Given the description of an element on the screen output the (x, y) to click on. 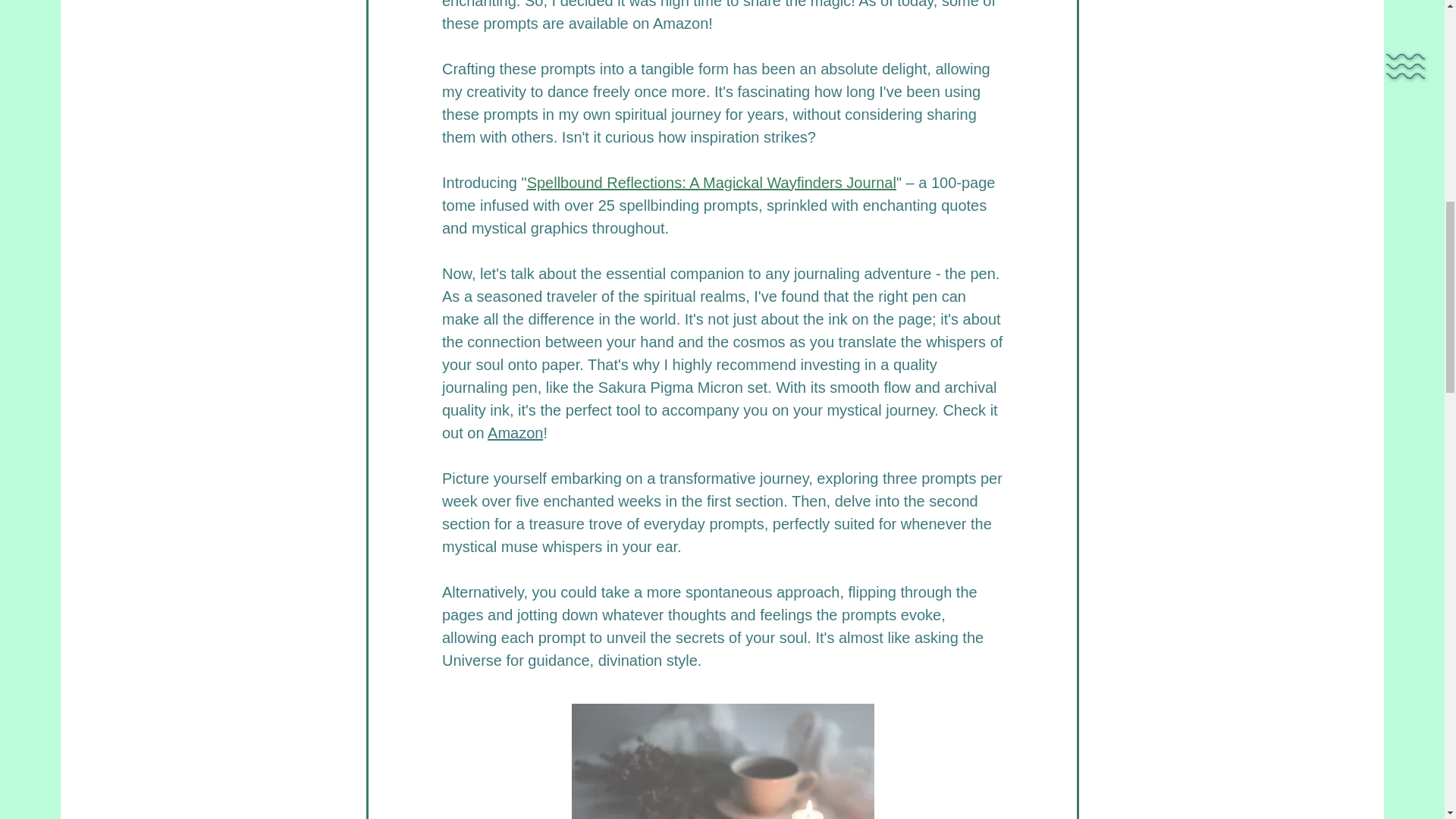
Amazon (515, 433)
Spellbound Reflections: A Magickal Wayfinders Journal (710, 182)
